Given the description of an element on the screen output the (x, y) to click on. 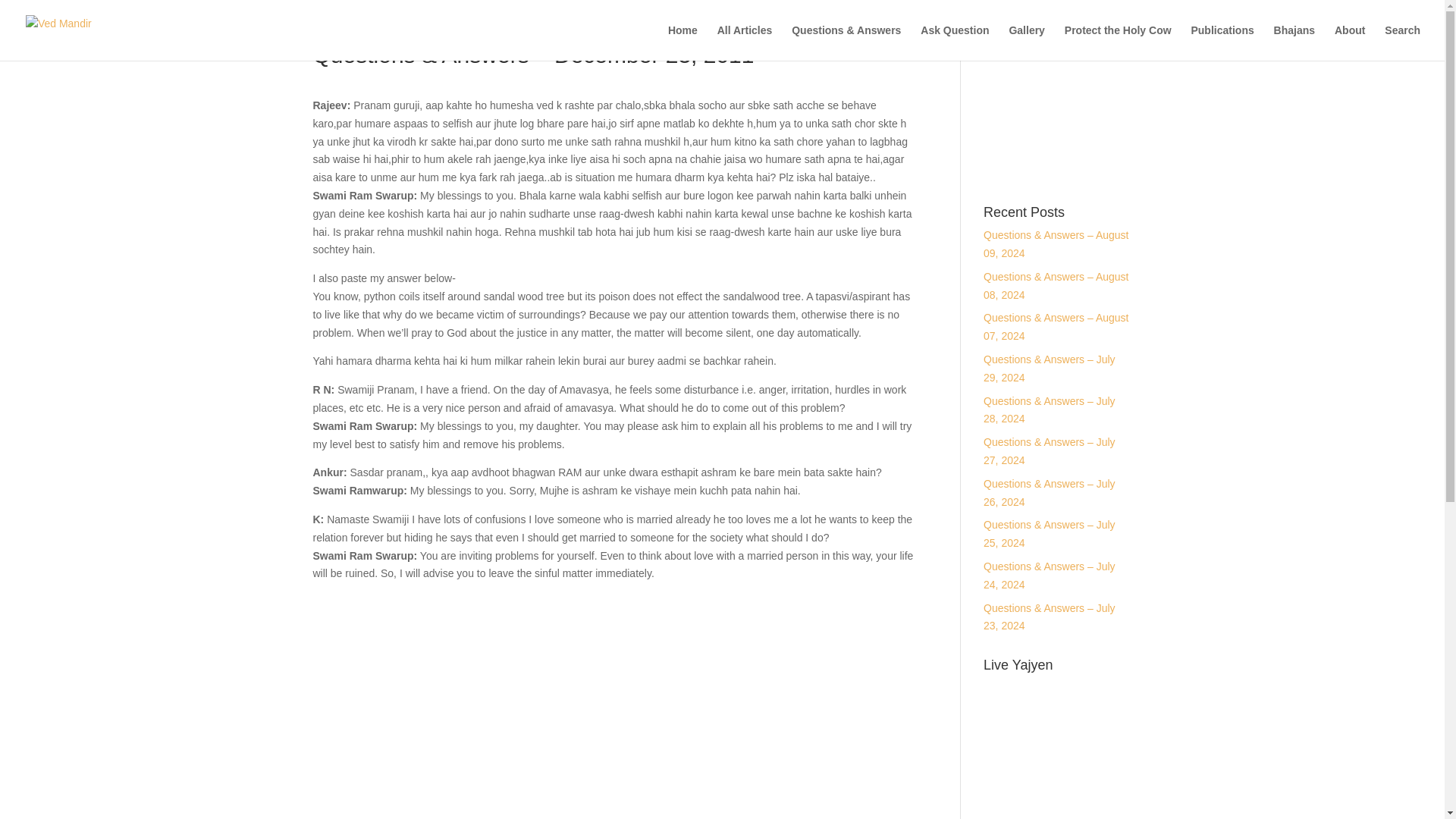
Bhajans (1294, 42)
Ask Question (954, 42)
Protect the Holy Cow (1118, 42)
Search (1402, 42)
Publications (1222, 42)
Gallery (1026, 42)
All Articles (745, 42)
